Given the description of an element on the screen output the (x, y) to click on. 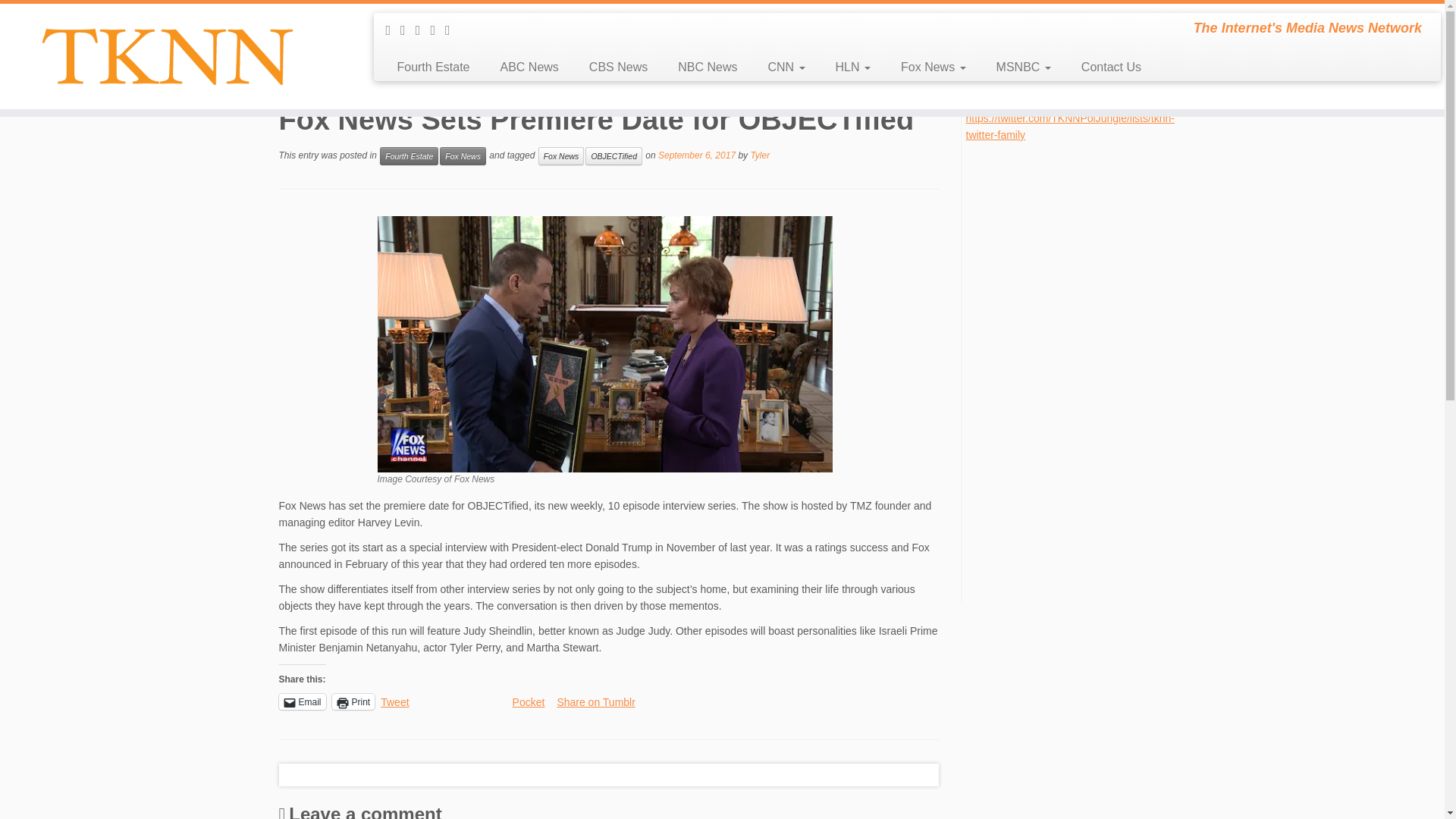
4:53 PM (696, 154)
CNN (785, 67)
Share on Tumblr (595, 700)
View all posts in OBJECTified (613, 156)
Pocket (528, 702)
Fox News (933, 67)
Follow me on Twitter (422, 29)
NBC News (707, 67)
Fox News (462, 156)
Tyler (759, 154)
